Given the description of an element on the screen output the (x, y) to click on. 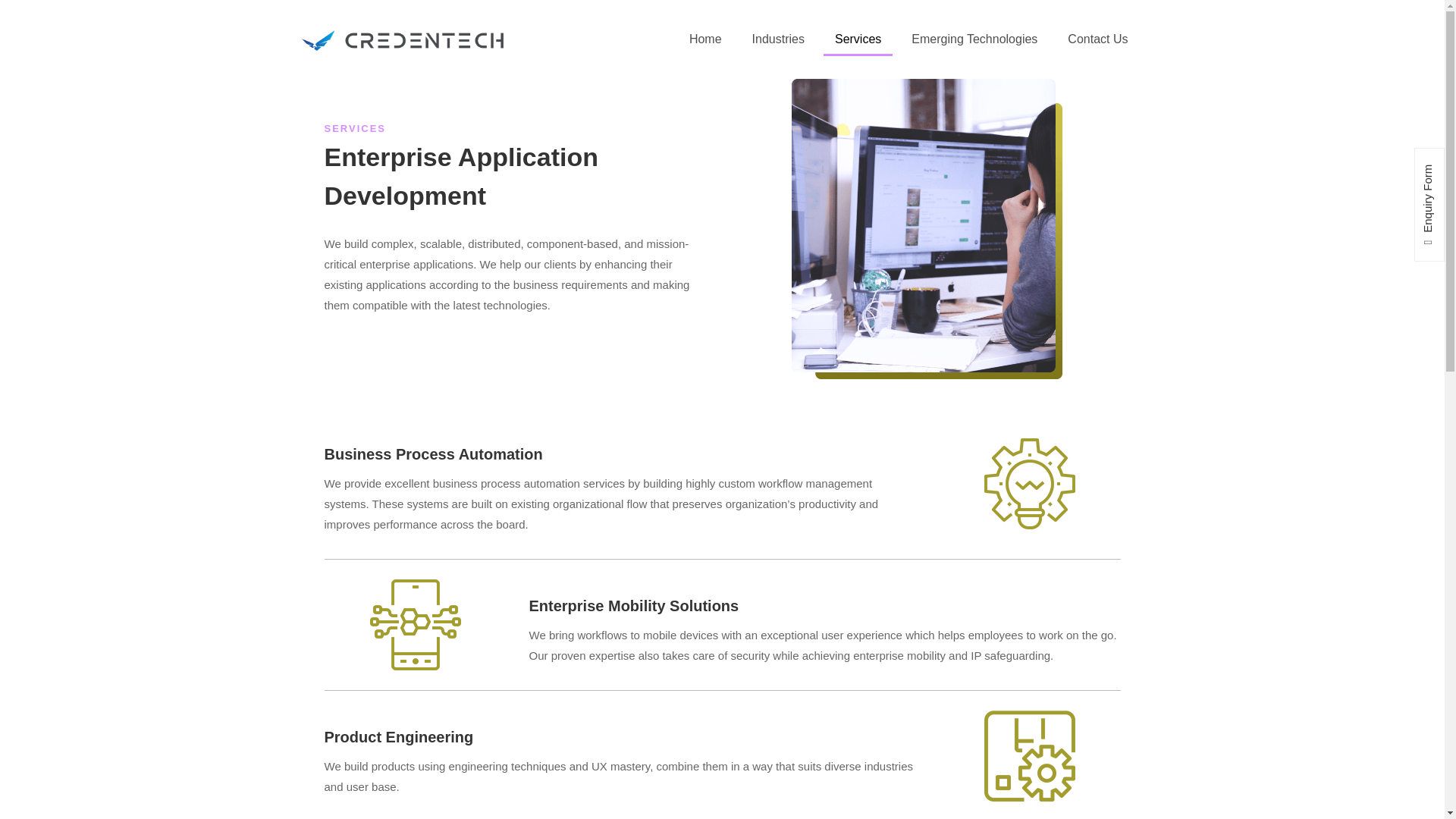
Home (705, 38)
Services (857, 38)
BFSI (861, 170)
Emerging Technologies (974, 38)
Industries (777, 38)
Contact Us (1097, 38)
